Given the description of an element on the screen output the (x, y) to click on. 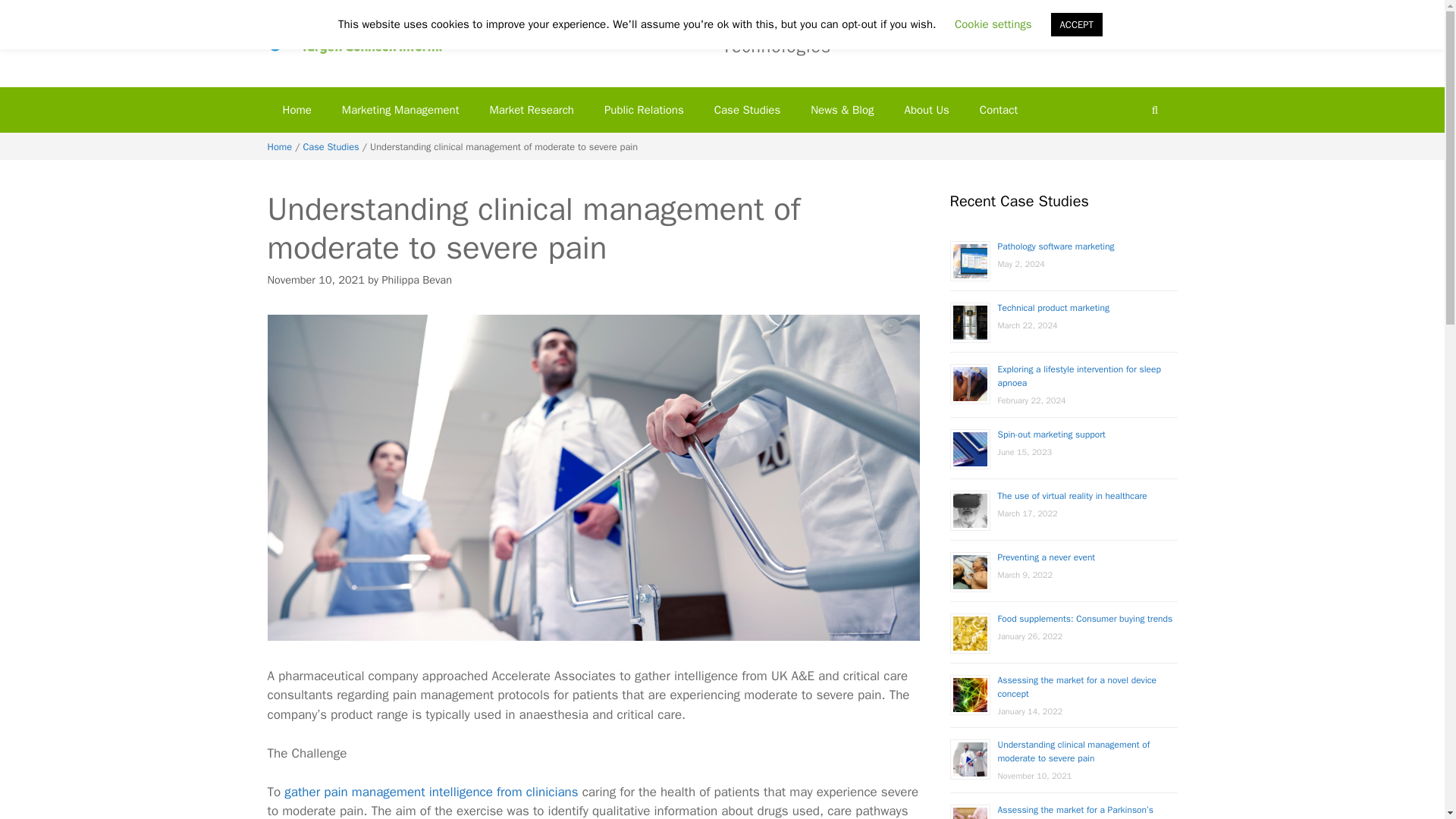
Marketing Management (400, 109)
Case Studies (746, 109)
View all posts by Philippa Bevan (416, 279)
Market Research (531, 109)
Home (296, 109)
Public Relations (643, 109)
